Given the description of an element on the screen output the (x, y) to click on. 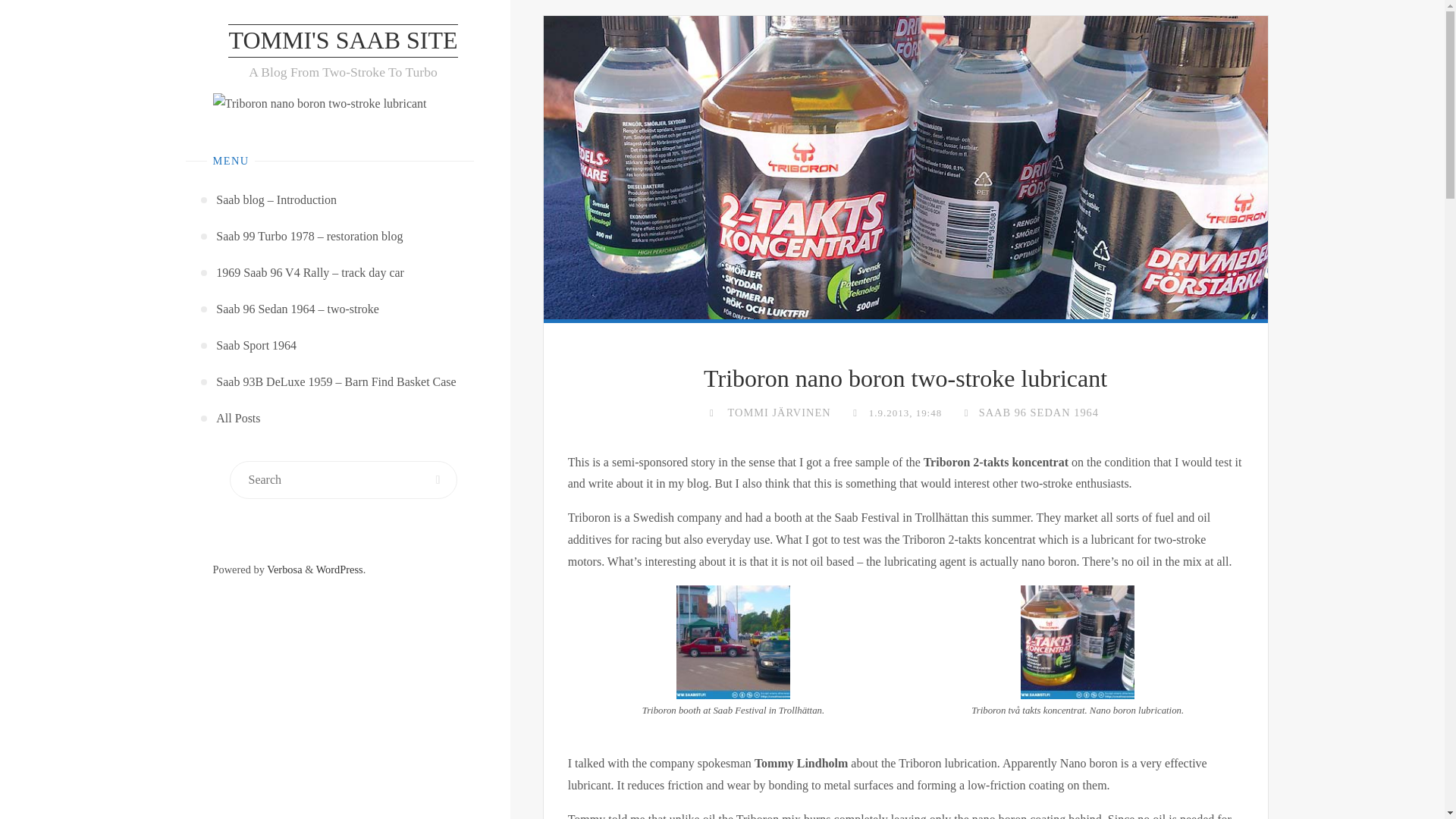
Semantic Personal Publishing Platform (338, 569)
Verbosa (283, 569)
Date (854, 412)
Verbosa WordPress Theme by Cryout Creations (283, 569)
All Posts (237, 418)
Categories (966, 412)
Saab Sport 1964 (256, 345)
A Blog From Two-Stroke To Turbo (342, 40)
Author (711, 412)
